Given the description of an element on the screen output the (x, y) to click on. 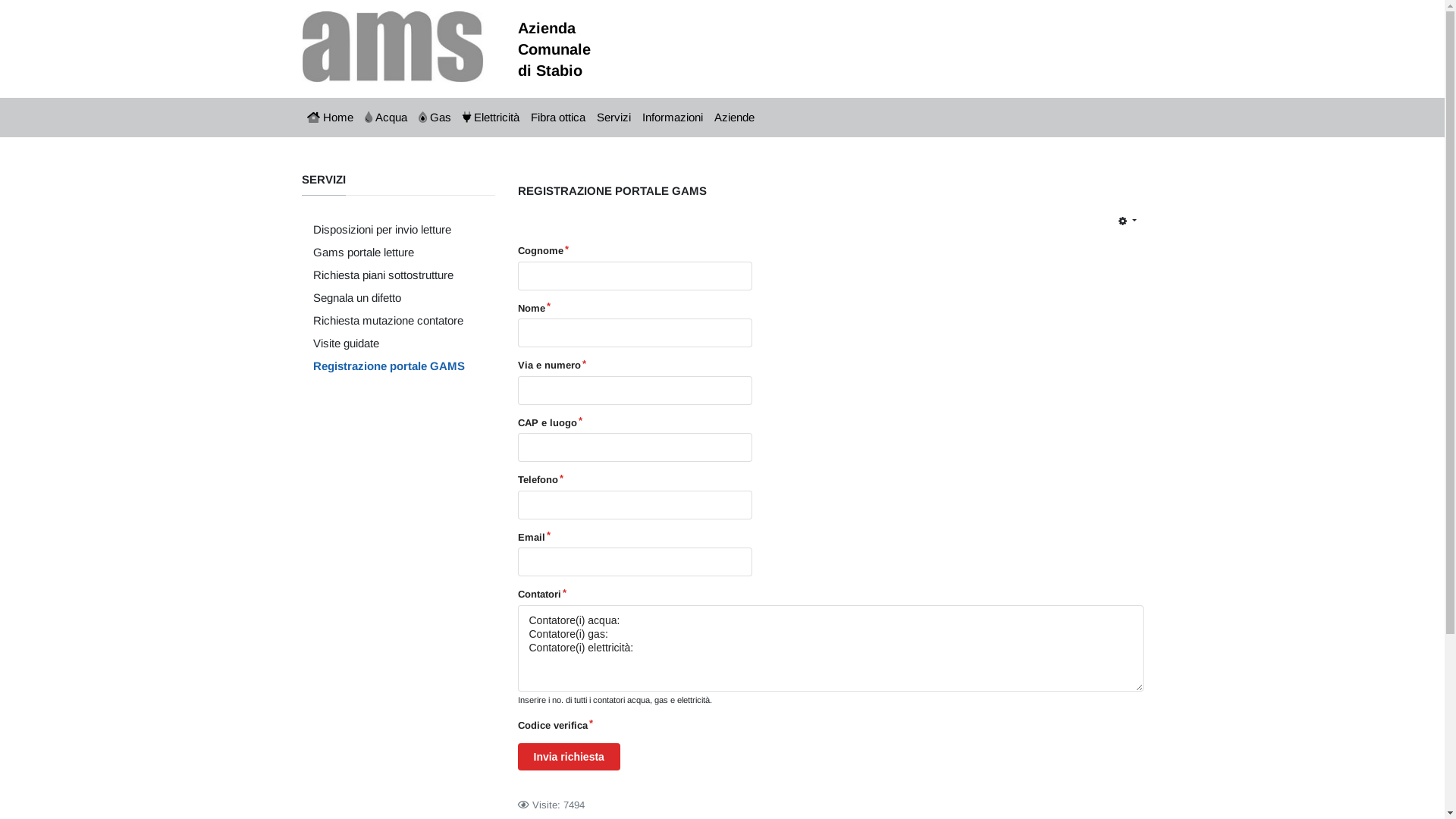
Richiesta mutazione contatore Element type: text (388, 320)
Home Element type: text (330, 117)
Richiesta piani sottostrutture Element type: text (388, 274)
Registrazione portale GAMS Element type: text (388, 365)
Invia richiesta Element type: text (568, 756)
Segnala un difetto Element type: text (388, 297)
Disposizioni per invio letture Element type: text (388, 229)
Aziende Municipalizzate Stabio Element type: hover (392, 45)
Gas Element type: text (434, 117)
Aziende Element type: text (733, 117)
Gams portale letture Element type: text (388, 252)
Informazioni Element type: text (673, 117)
Acqua Element type: text (386, 117)
Fibra ottica Element type: text (557, 117)
Servizi Element type: text (614, 117)
Visite guidate Element type: text (388, 343)
